Given the description of an element on the screen output the (x, y) to click on. 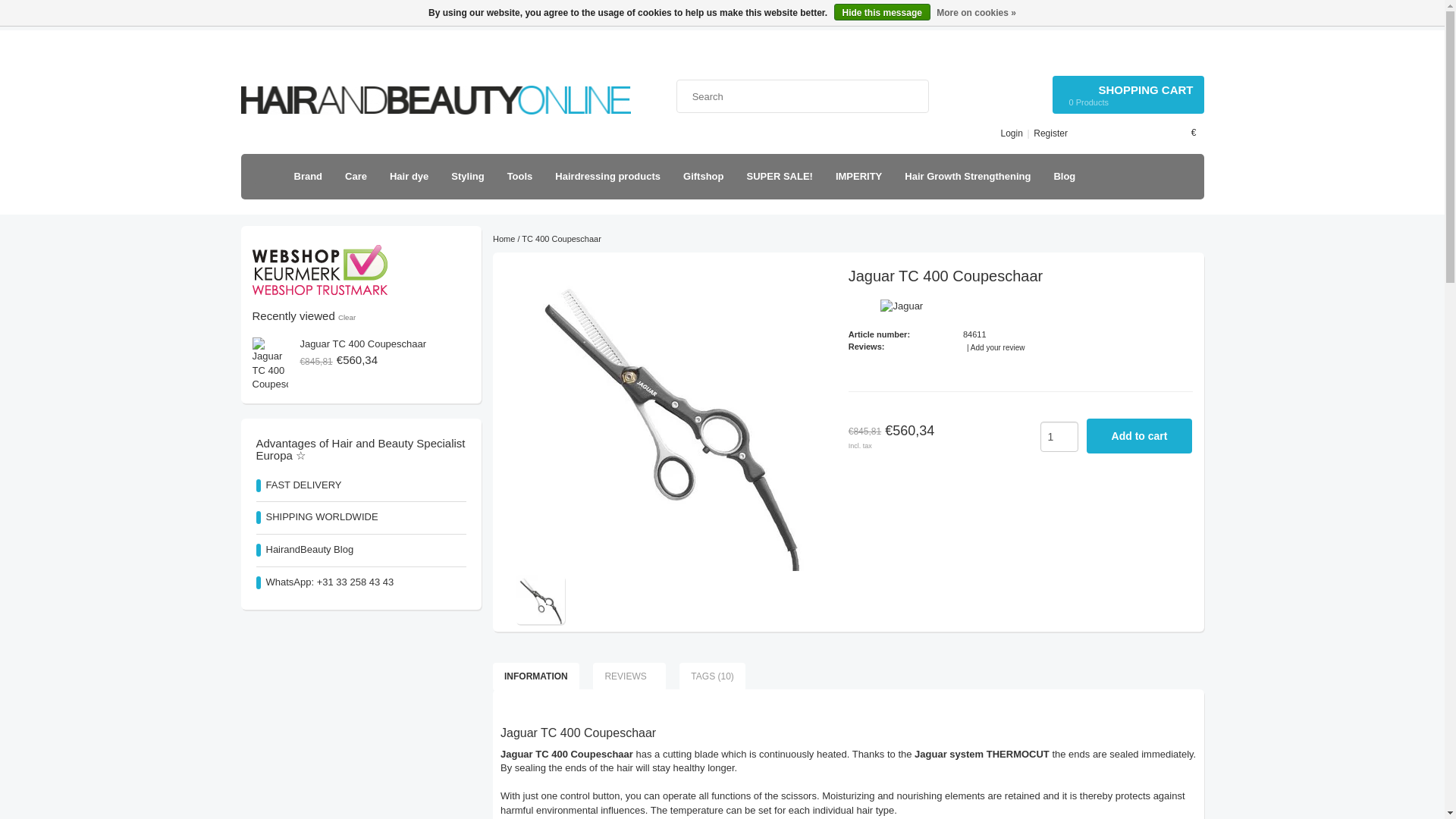
Register (1050, 132)
FAST DELIVERY (280, 16)
1 (1059, 436)
HairandBeauty Blog (783, 16)
HAIRANDBEAUTY BLOG (783, 16)
FAST DELIVERY (1128, 94)
SHIPPING WORLDWIDE (280, 16)
SHIPPING WORLDWIDE (536, 16)
Login (536, 16)
